Given the description of an element on the screen output the (x, y) to click on. 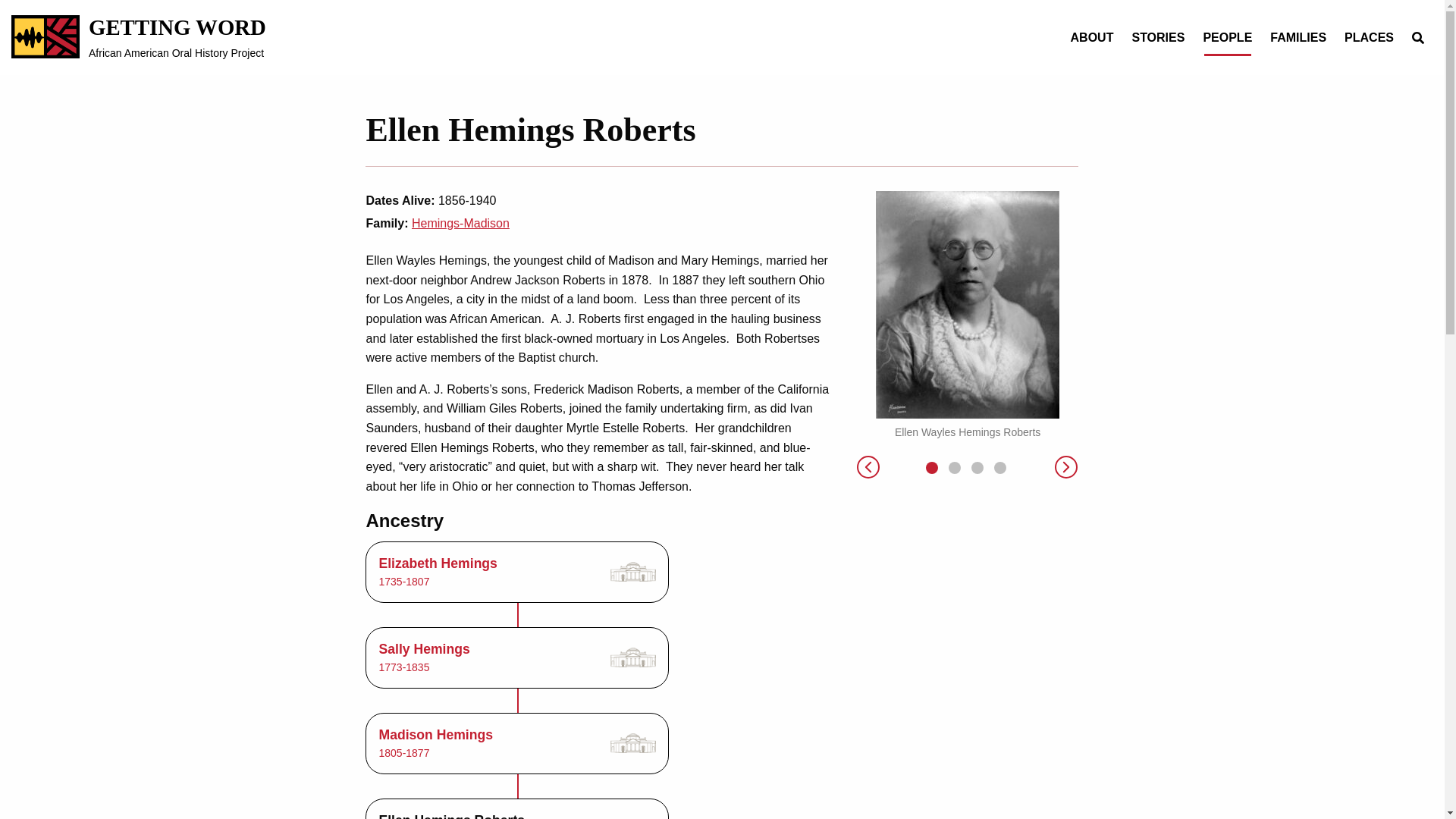
FAMILIES (138, 36)
Hemings-Madison (517, 743)
PEOPLE (1297, 37)
4 (460, 223)
Previous (517, 657)
STORIES (1226, 37)
Next (1000, 467)
2 (868, 468)
3 (1157, 37)
PLACES (1066, 468)
ABOUT (954, 467)
